Given the description of an element on the screen output the (x, y) to click on. 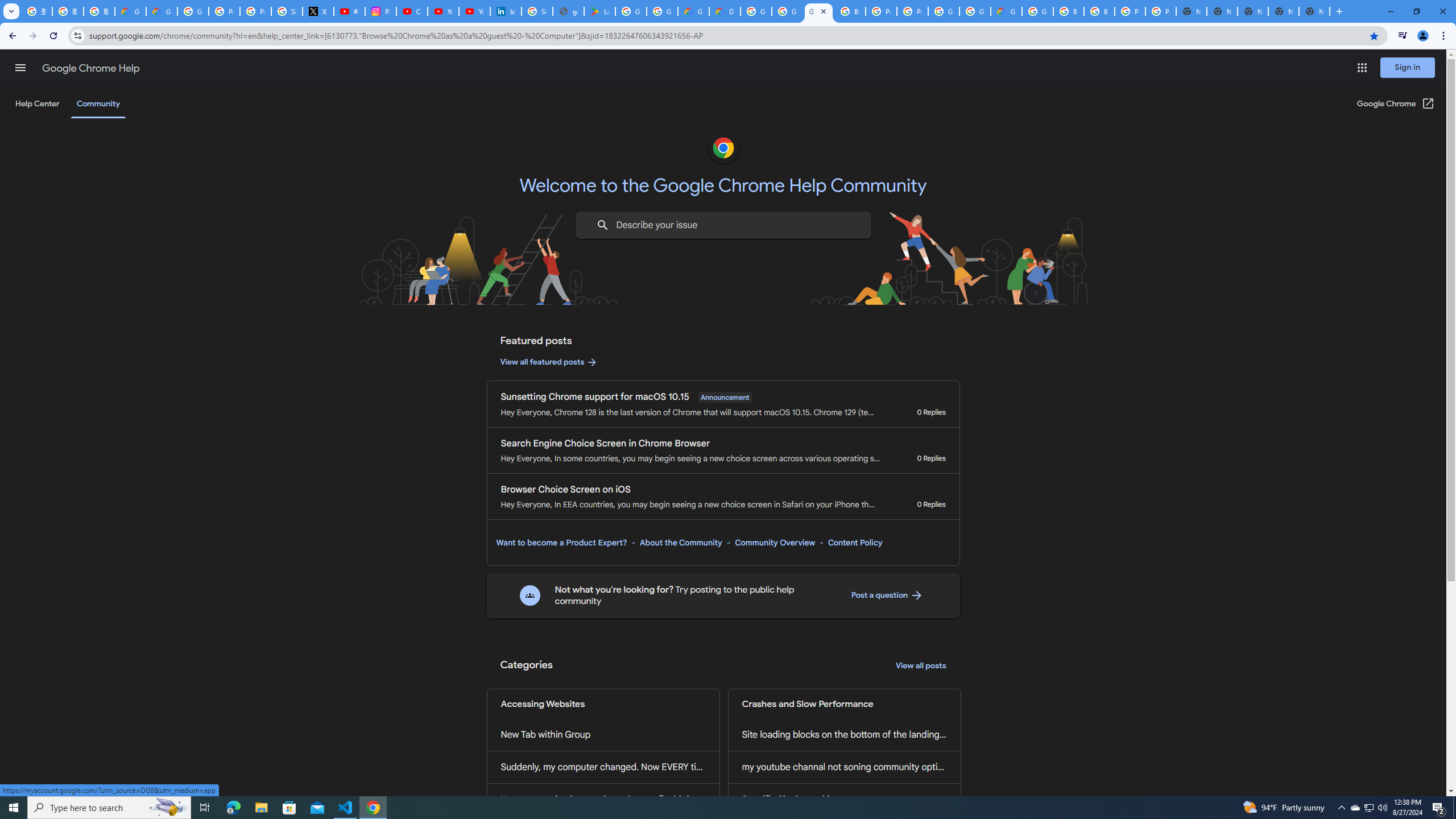
New Tab (1314, 11)
Browse Chrome as a guest - Computer - Google Chrome Help (1068, 11)
Google Chrome Community (818, 11)
Post a question  (886, 595)
Last Shelter: Survival - Apps on Google Play (599, 11)
Google Workspace - Specific Terms (662, 11)
Content Policy (854, 542)
